Given the description of an element on the screen output the (x, y) to click on. 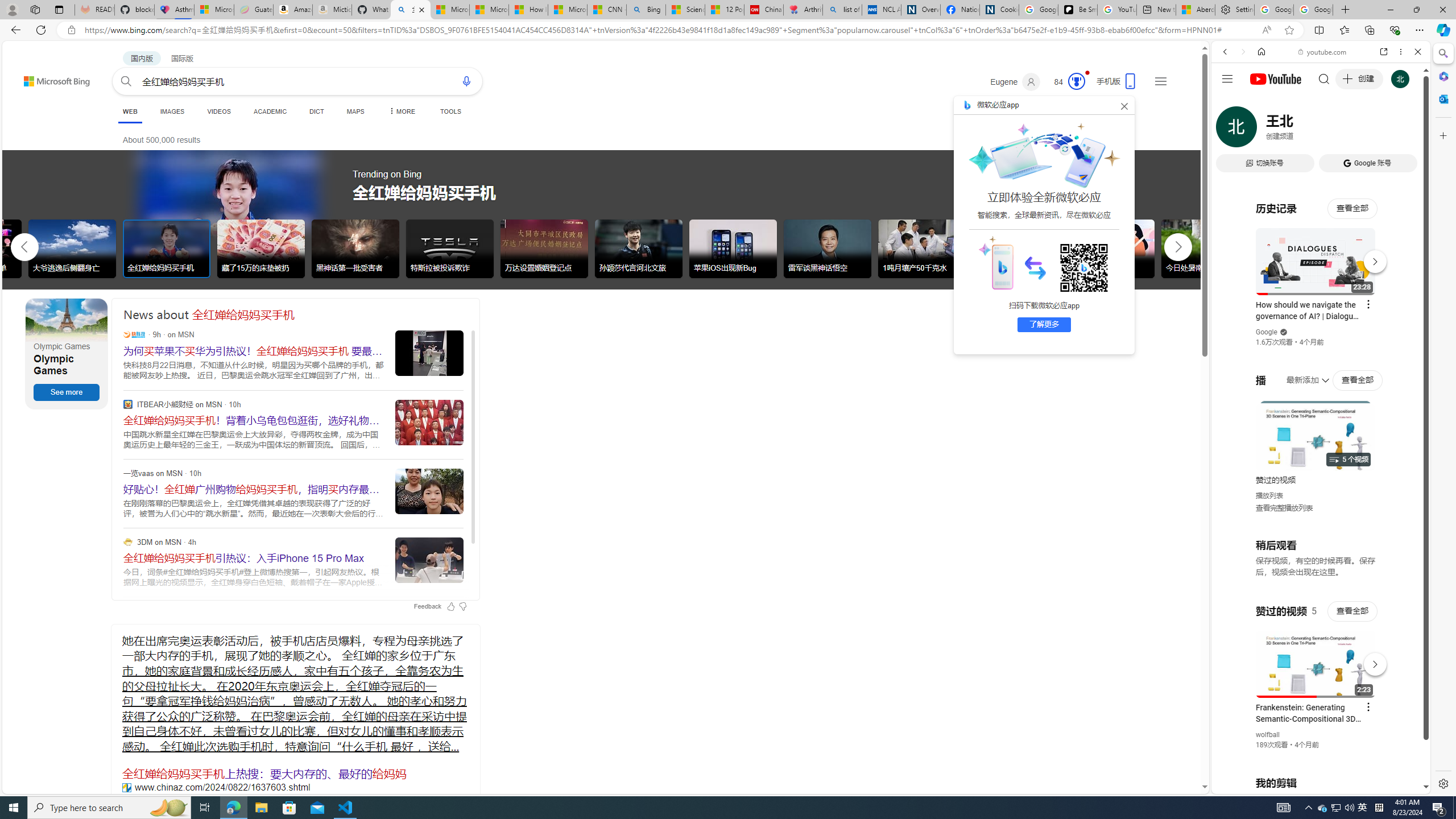
Favorites (1344, 29)
3DM on MSN (127, 541)
Open link in new tab (1383, 51)
www.chinaz.com/2024/0822/1637603.shtml (126, 786)
Cookies (999, 9)
New Tab (1346, 9)
ACADEMIC (269, 111)
Click to scroll left (25, 246)
Home (1261, 51)
TOOLS (450, 111)
